Given the description of an element on the screen output the (x, y) to click on. 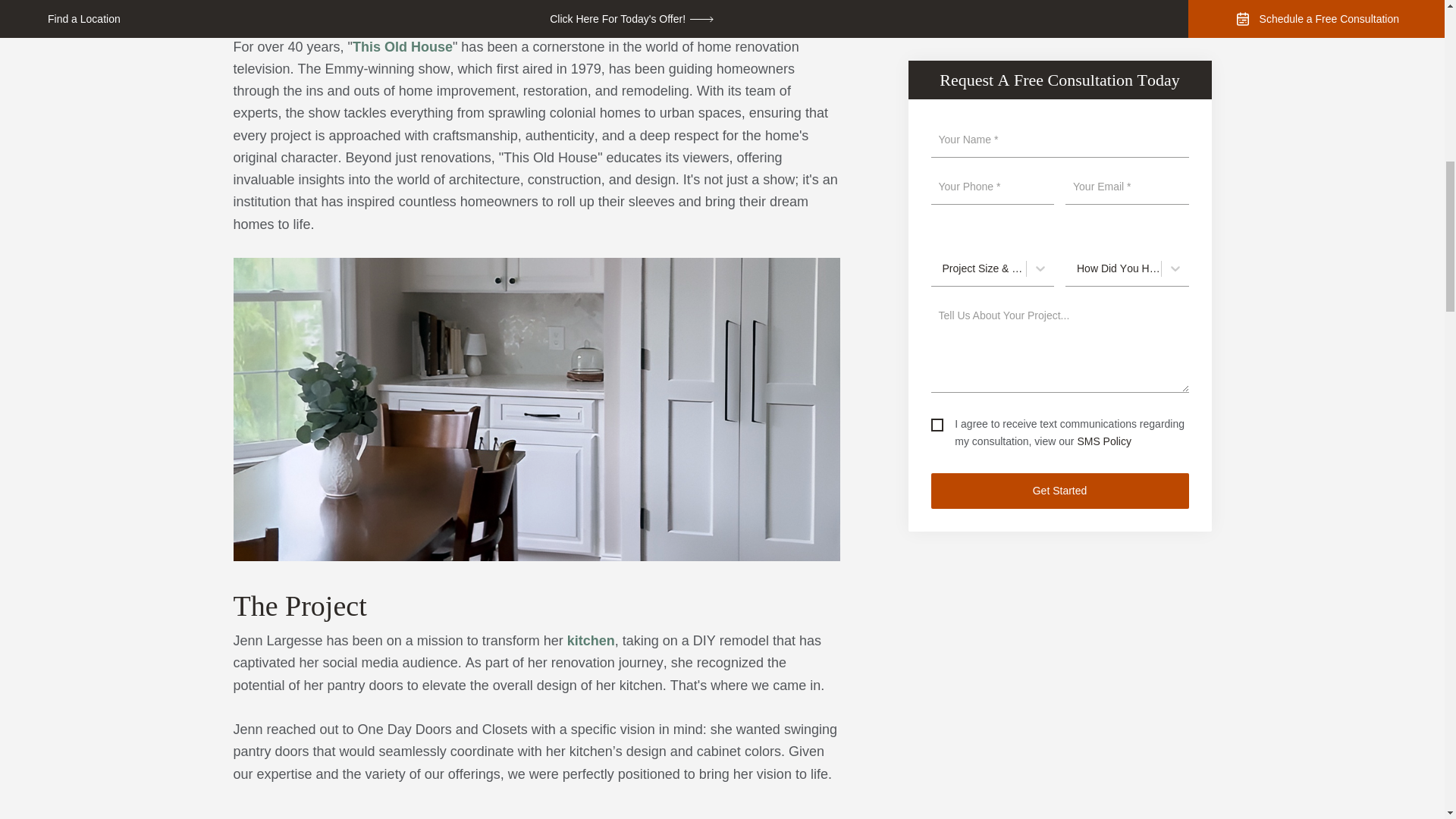
This Old House (402, 46)
kitchen (590, 640)
This Old House (402, 46)
Finished Kitchen Remodel (590, 640)
